Given the description of an element on the screen output the (x, y) to click on. 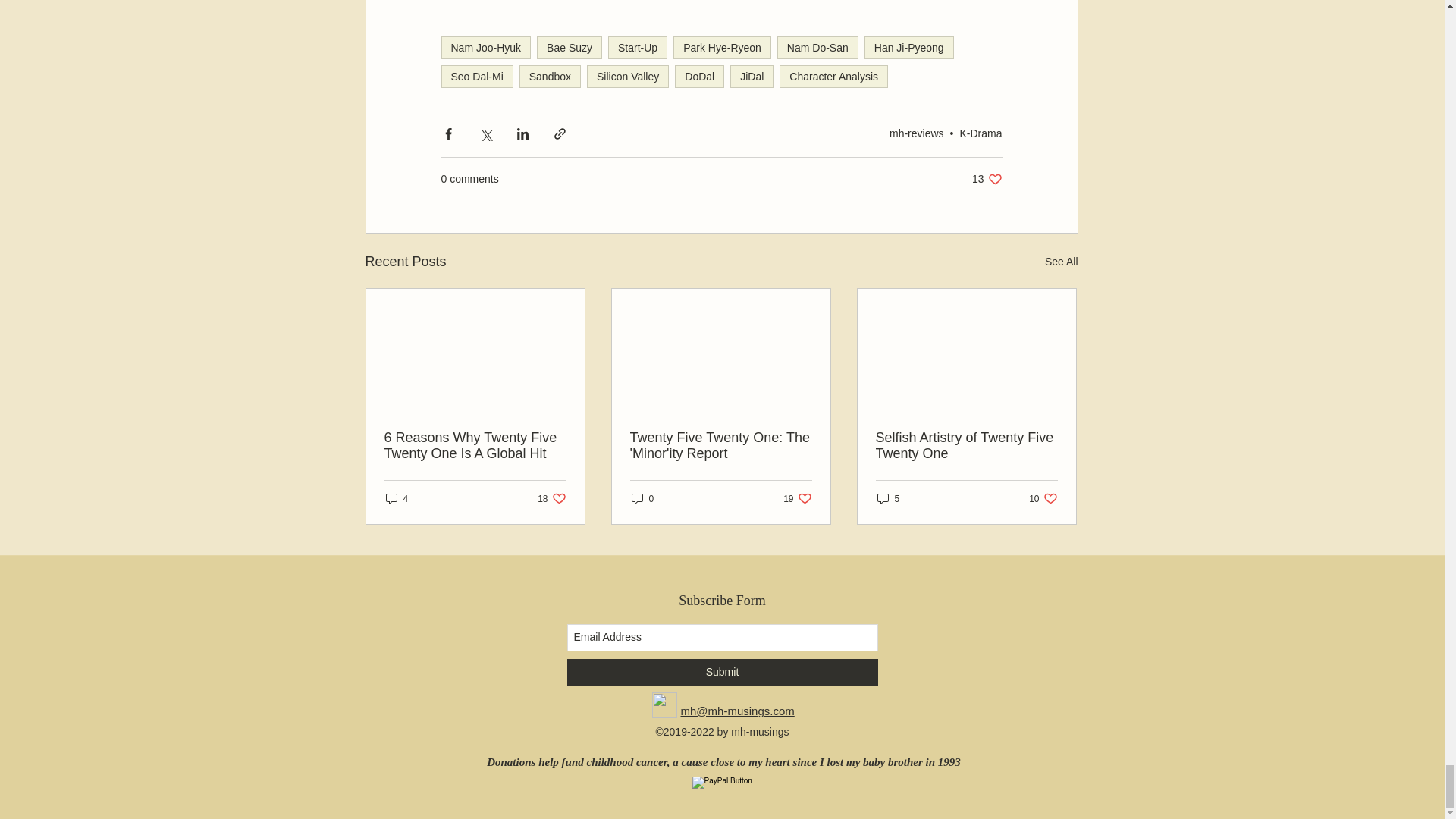
K-Drama (980, 133)
Han Ji-Pyeong (908, 47)
JiDal (751, 76)
Nam Do-San (818, 47)
Bae Suzy (569, 47)
Start-Up (637, 47)
Sandbox (549, 76)
Silicon Valley (627, 76)
Character Analysis (833, 76)
DoDal (699, 76)
Park Hye-Ryeon (721, 47)
mh-reviews (916, 133)
Nam Joo-Hyuk (486, 47)
Seo Dal-Mi (477, 76)
